Given the description of an element on the screen output the (x, y) to click on. 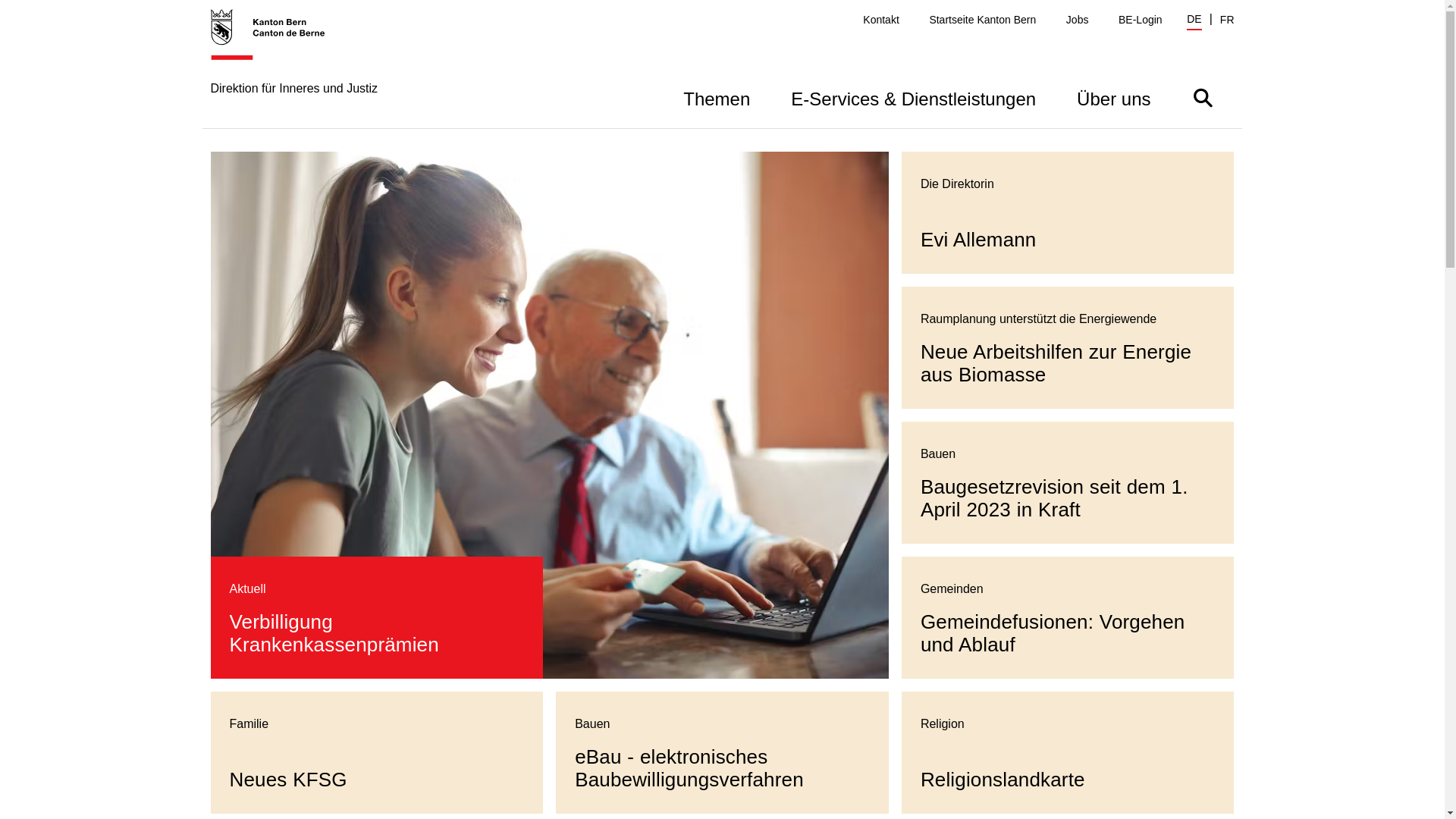
Themen Element type: text (716, 96)
eBau - elektronisches Baubewilligungsverfahren
Bauen Element type: text (721, 752)
Suche ein- oder ausblenden Element type: text (1201, 96)
Gemeindefusionen: Vorgehen und Ablauf
Gemeinden Element type: text (1067, 617)
Baugesetzrevision seit dem 1. April 2023 in Kraft
Bauen Element type: text (1067, 482)
Neues KFSG    
Familie Element type: text (376, 752)
BE-Login Element type: text (1140, 19)
Kontakt Element type: text (880, 19)
Startseite Kanton Bern Element type: text (981, 19)
Jobs Element type: text (1077, 19)
FR Element type: text (1227, 19)
Religionslandkarte
Religion Element type: text (1067, 752)
E-Services & Dienstleistungen Element type: text (913, 96)
DE Element type: text (1193, 21)
Evi Allemann
Die Direktorin Element type: text (1067, 212)
